Given the description of an element on the screen output the (x, y) to click on. 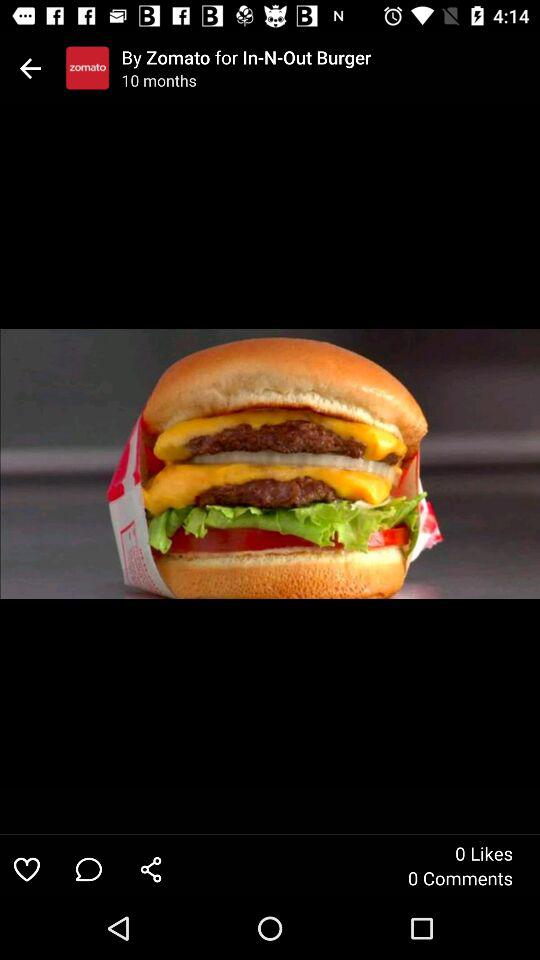
choose icon at the center (270, 463)
